Given the description of an element on the screen output the (x, y) to click on. 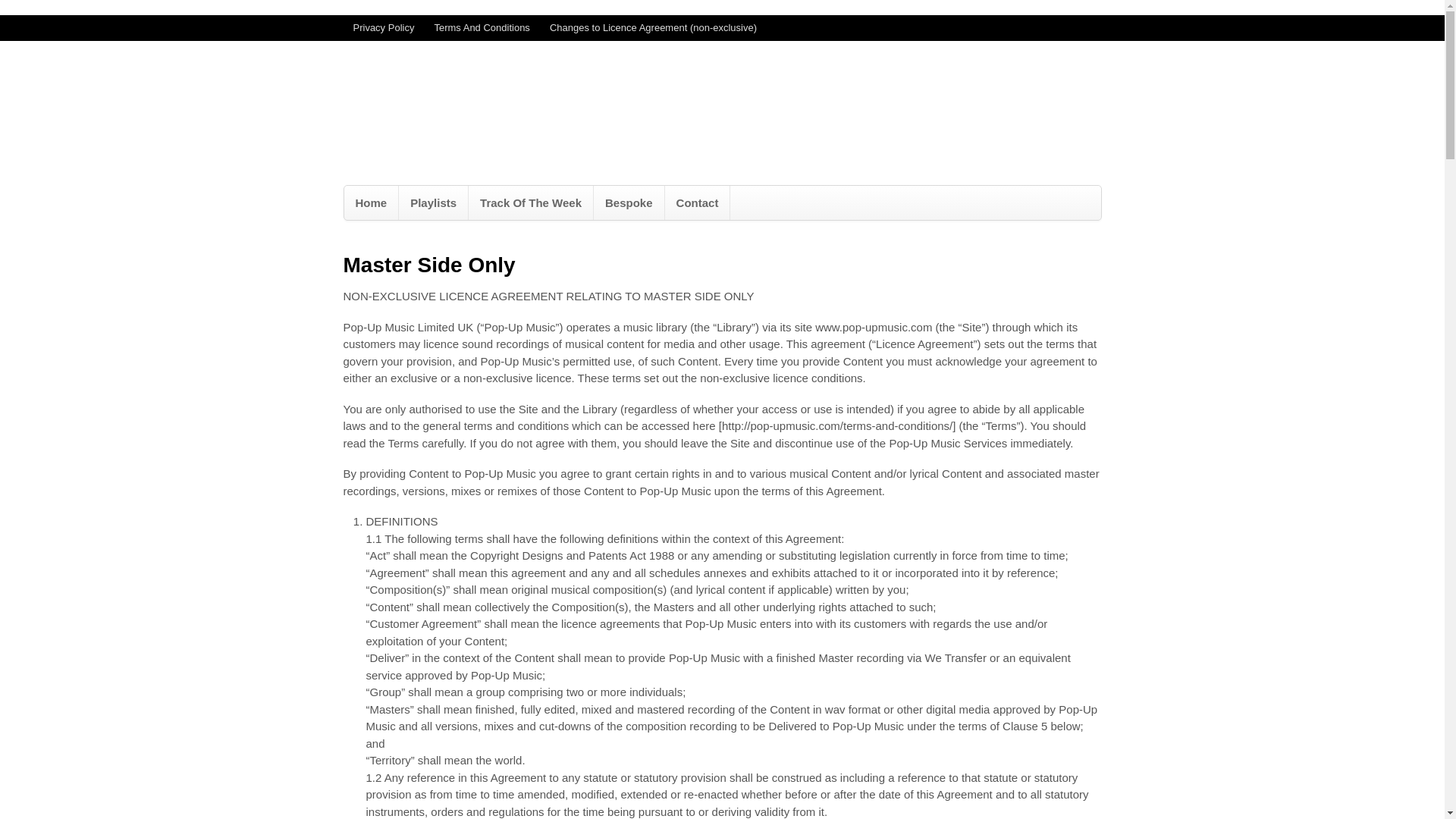
Privacy Policy (382, 27)
Playlists (432, 202)
Bespoke (628, 202)
Contact (697, 202)
Home (370, 202)
Terms And Conditions (480, 27)
Track Of The Week (530, 202)
